Given the description of an element on the screen output the (x, y) to click on. 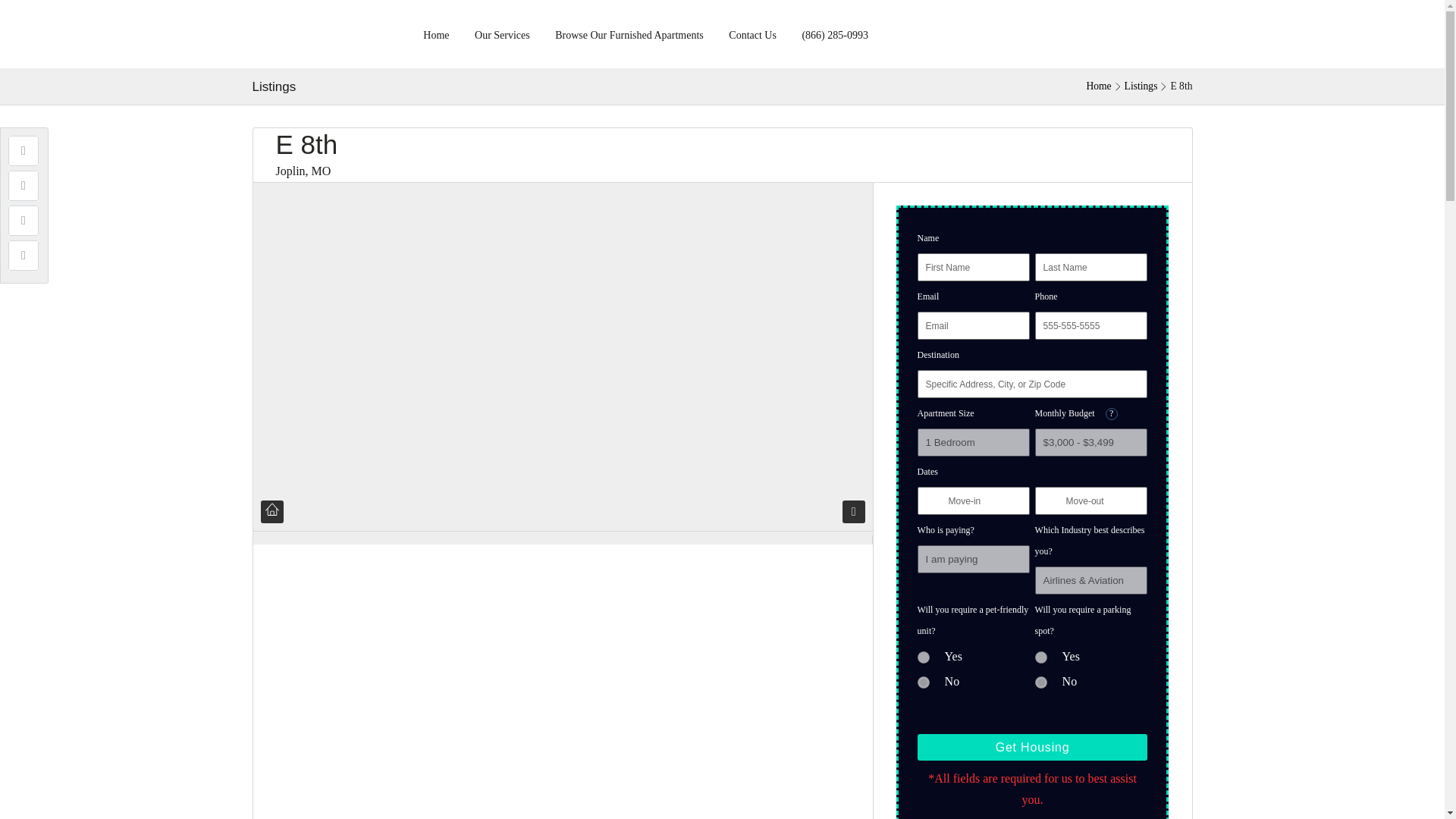
YES (923, 657)
Browse Our Furnished Apartments (628, 33)
Get Housing (1032, 746)
Listings (1140, 86)
NO (923, 682)
NO (1040, 682)
Our Services (502, 33)
Home (1098, 86)
Contact Us (752, 33)
YES (1040, 657)
